Given the description of an element on the screen output the (x, y) to click on. 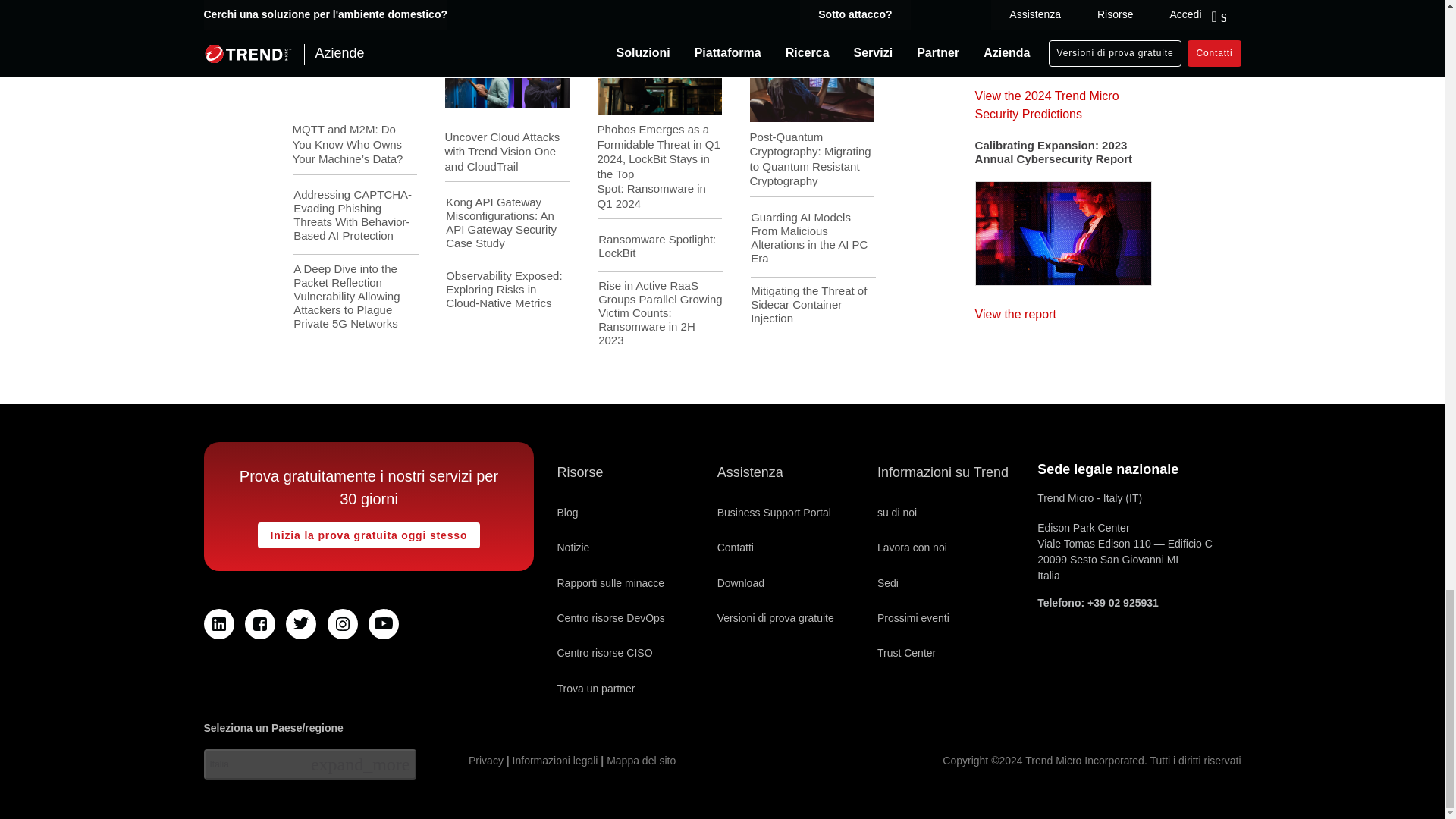
open on a new window (217, 624)
open on a new window (595, 688)
open on a new window (342, 624)
open on a new window (259, 624)
Legal (555, 760)
open on a new window (300, 624)
open on a new window (383, 624)
privacy (485, 760)
open on a new window (774, 512)
Site map (641, 760)
